Given the description of an element on the screen output the (x, y) to click on. 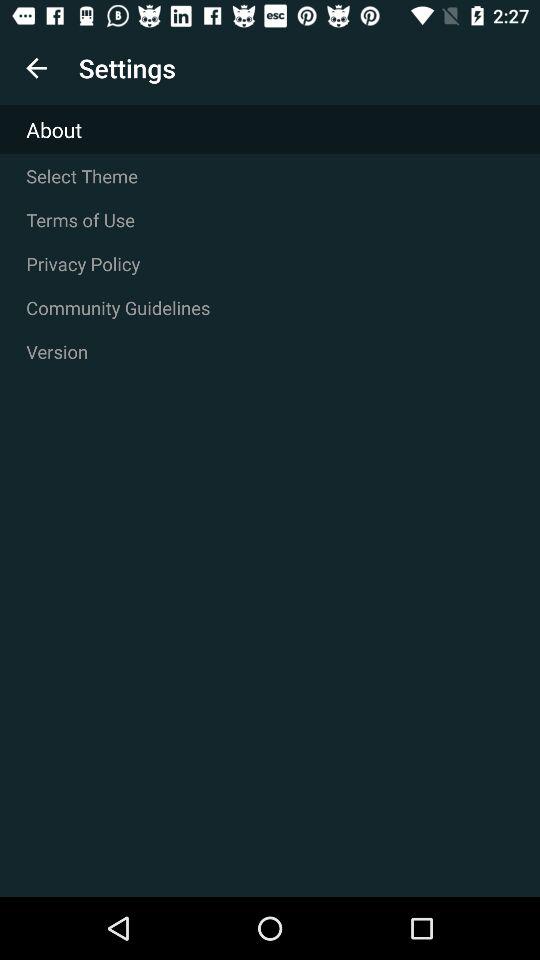
press item above the about item (36, 68)
